Given the description of an element on the screen output the (x, y) to click on. 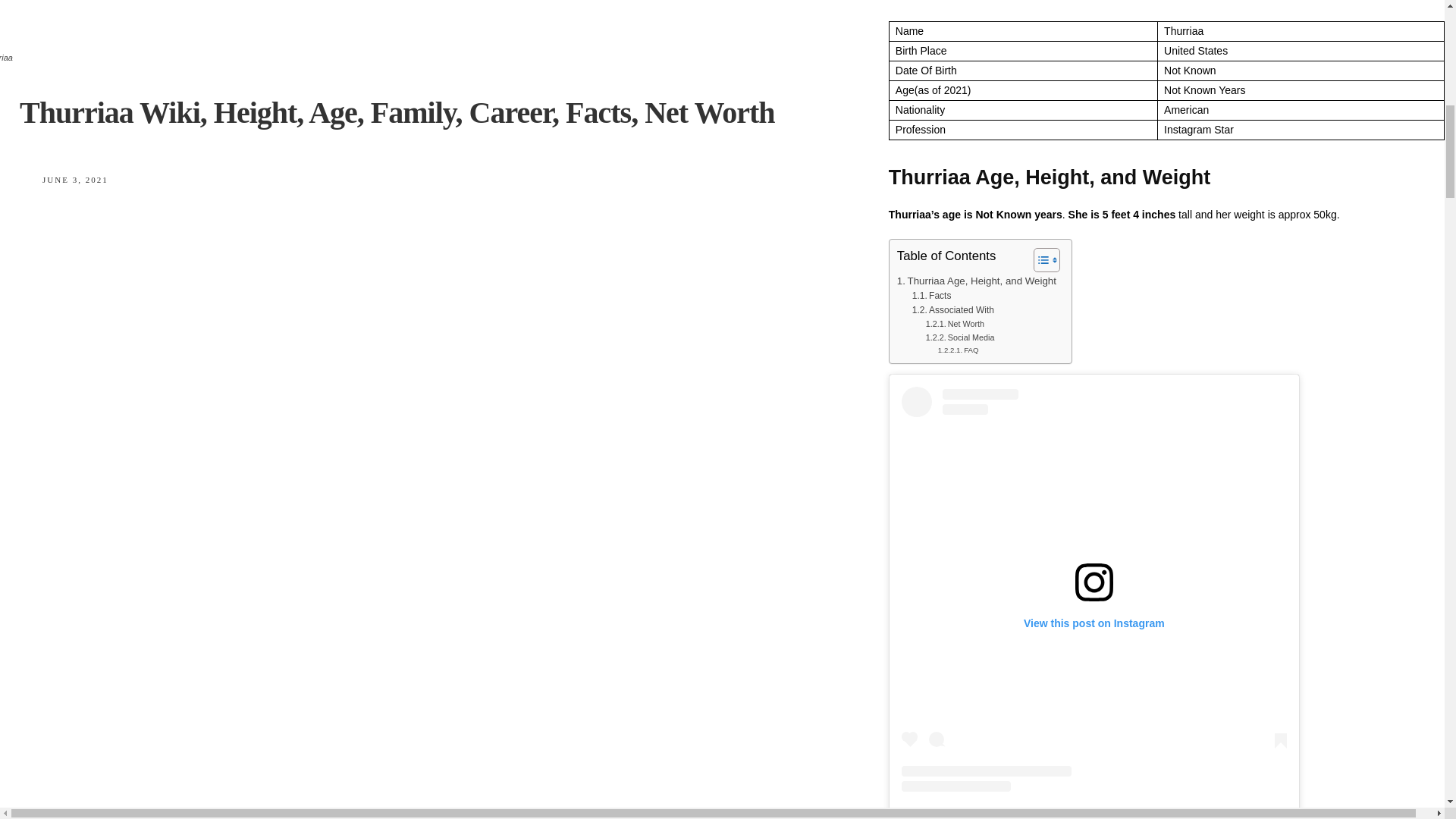
Thurriaa Age, Height, and Weight (976, 280)
Associated With (953, 310)
FAQ (957, 349)
Facts (932, 296)
Social Media (960, 336)
